Given the description of an element on the screen output the (x, y) to click on. 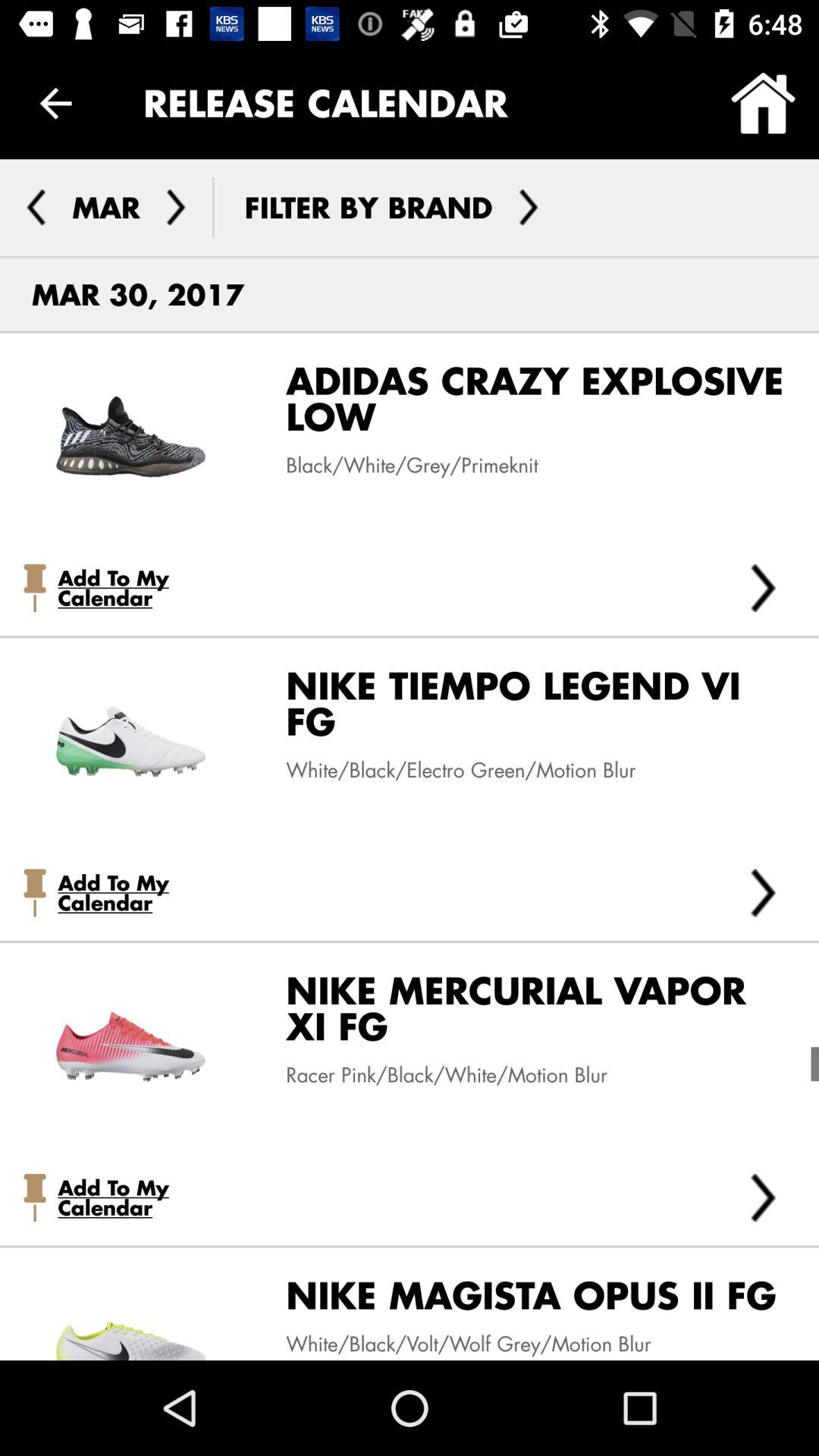
turn on icon below the nike mercurial vapor (434, 1074)
